Given the description of an element on the screen output the (x, y) to click on. 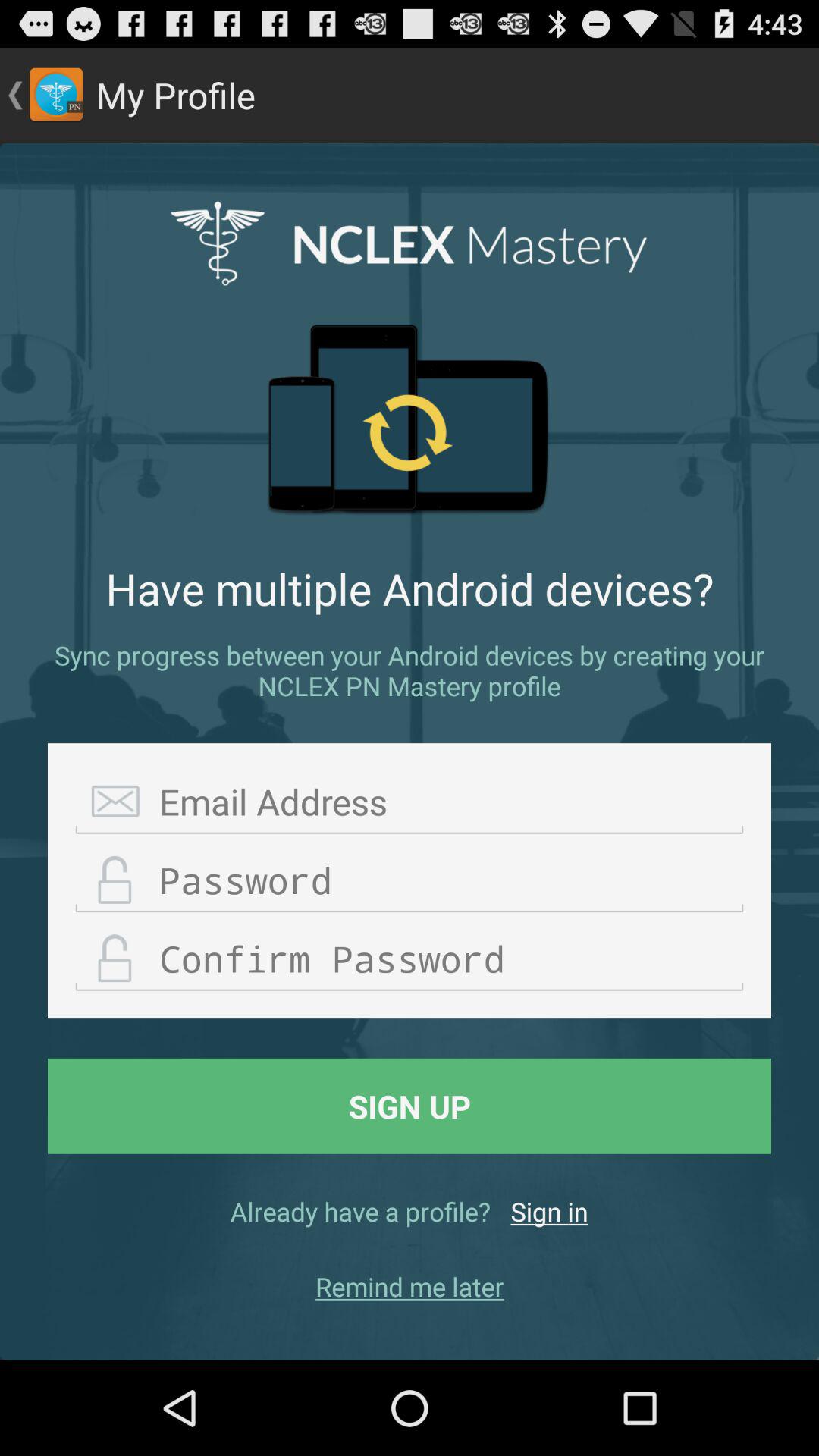
tap app to the right of the already have a item (549, 1211)
